Given the description of an element on the screen output the (x, y) to click on. 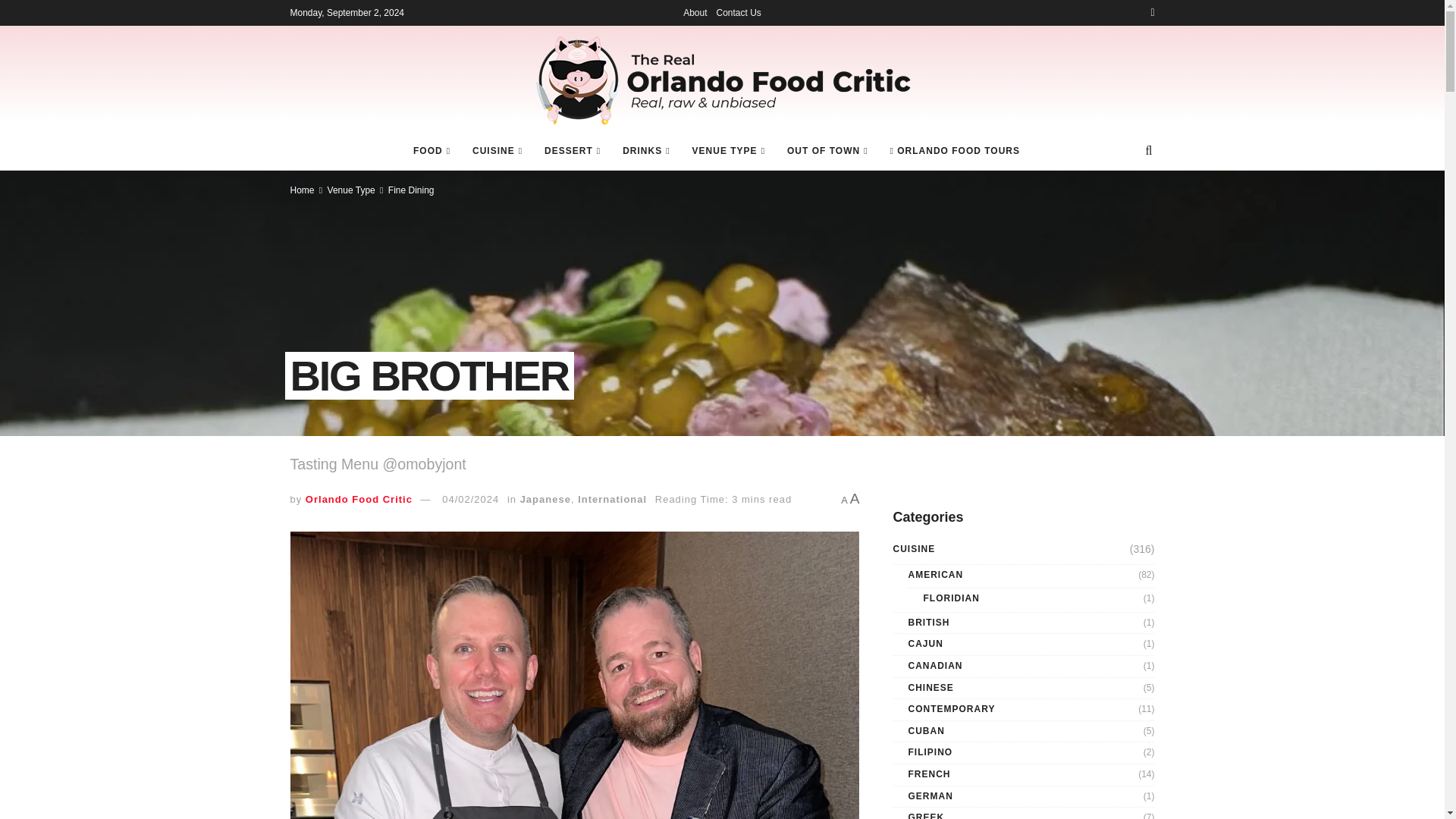
About (694, 12)
FOOD (430, 150)
Contact Us (738, 12)
